Given the description of an element on the screen output the (x, y) to click on. 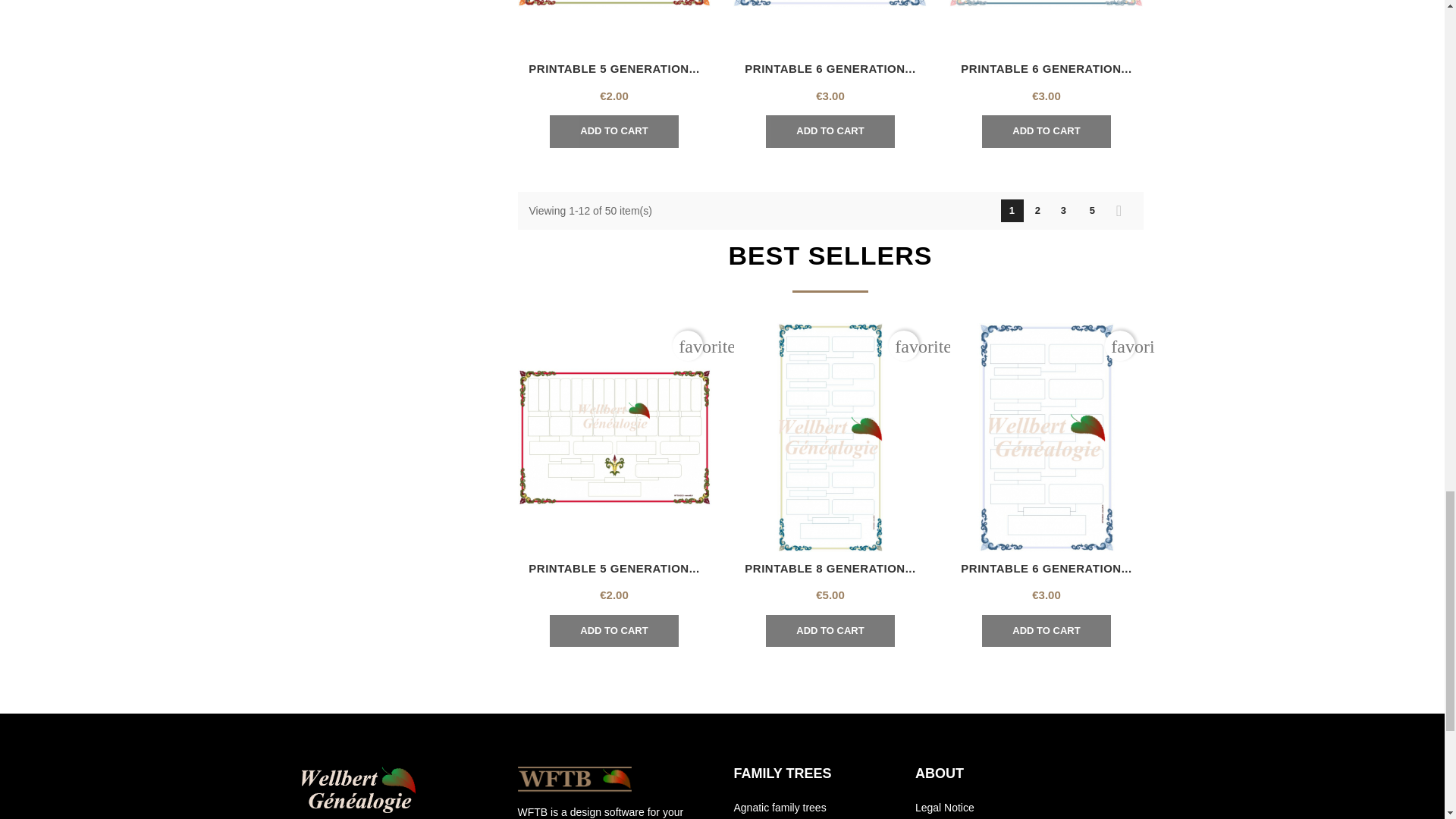
Legal Notice (944, 807)
